Given the description of an element on the screen output the (x, y) to click on. 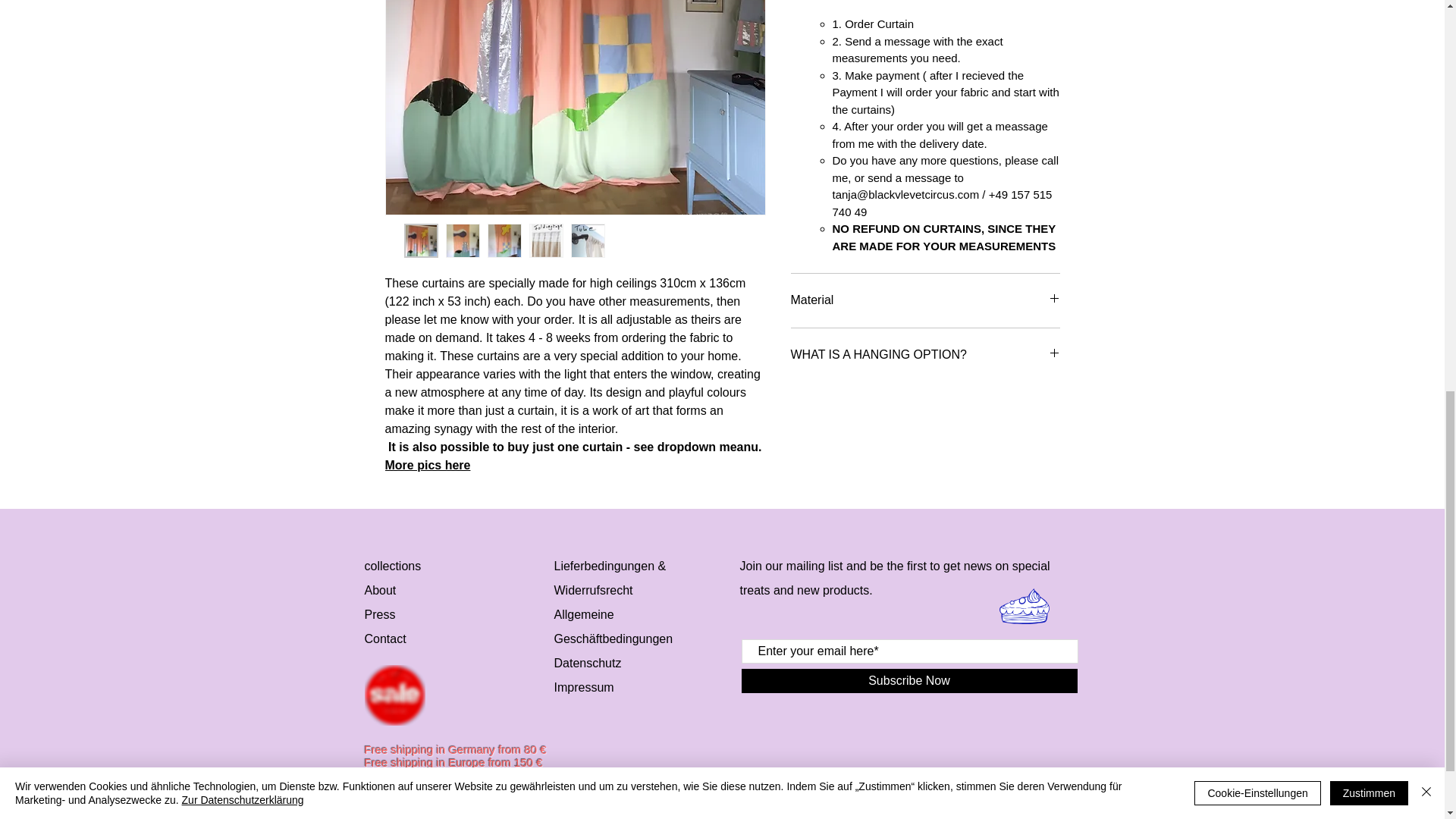
Impressum (582, 686)
More pics here (427, 464)
Material (924, 299)
How to order? (924, 1)
About (380, 590)
collections (392, 565)
Subscribe Now (909, 680)
Datenschutz (587, 662)
Contact  (386, 638)
WHAT IS A HANGING OPTION? (924, 354)
Press (379, 614)
